Given the description of an element on the screen output the (x, y) to click on. 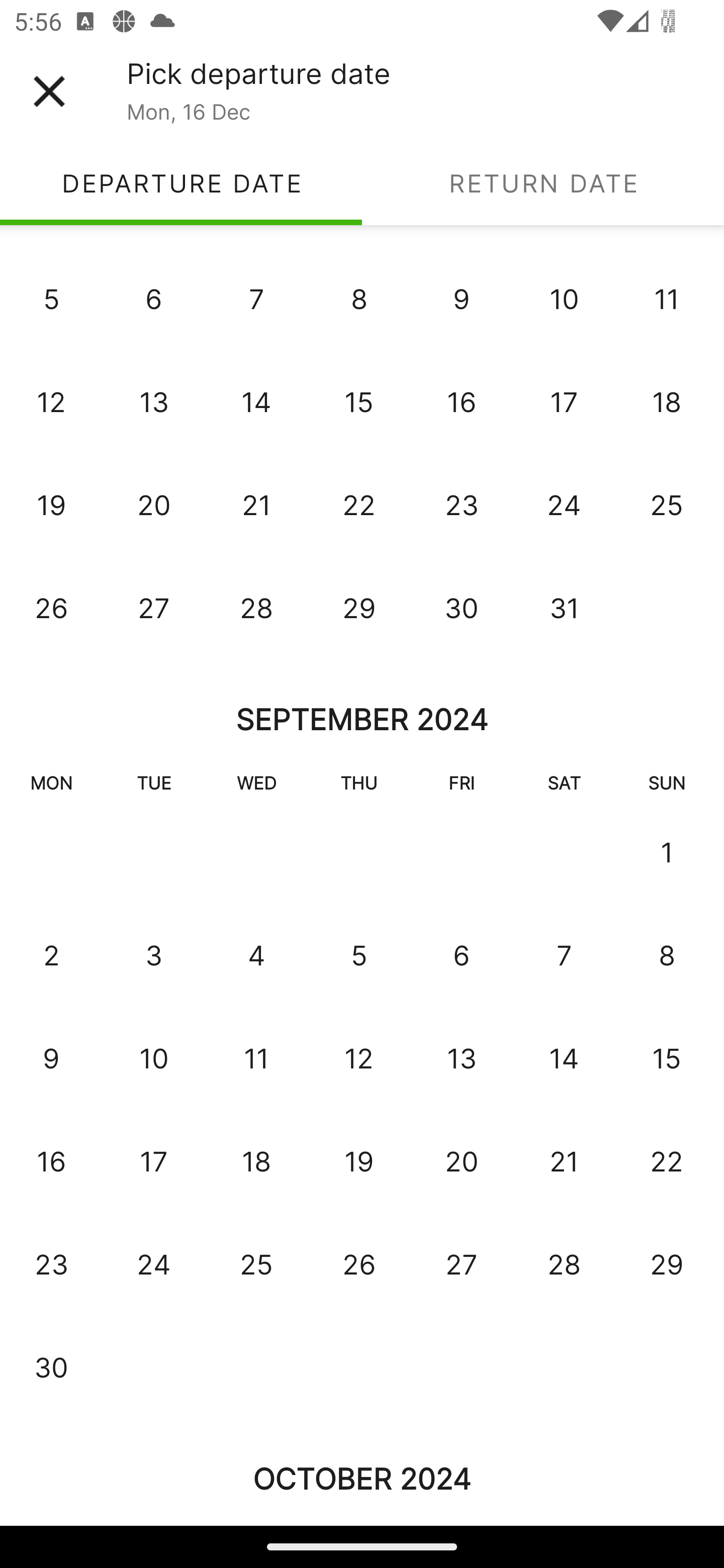
Return Date RETURN DATE (543, 183)
